Given the description of an element on the screen output the (x, y) to click on. 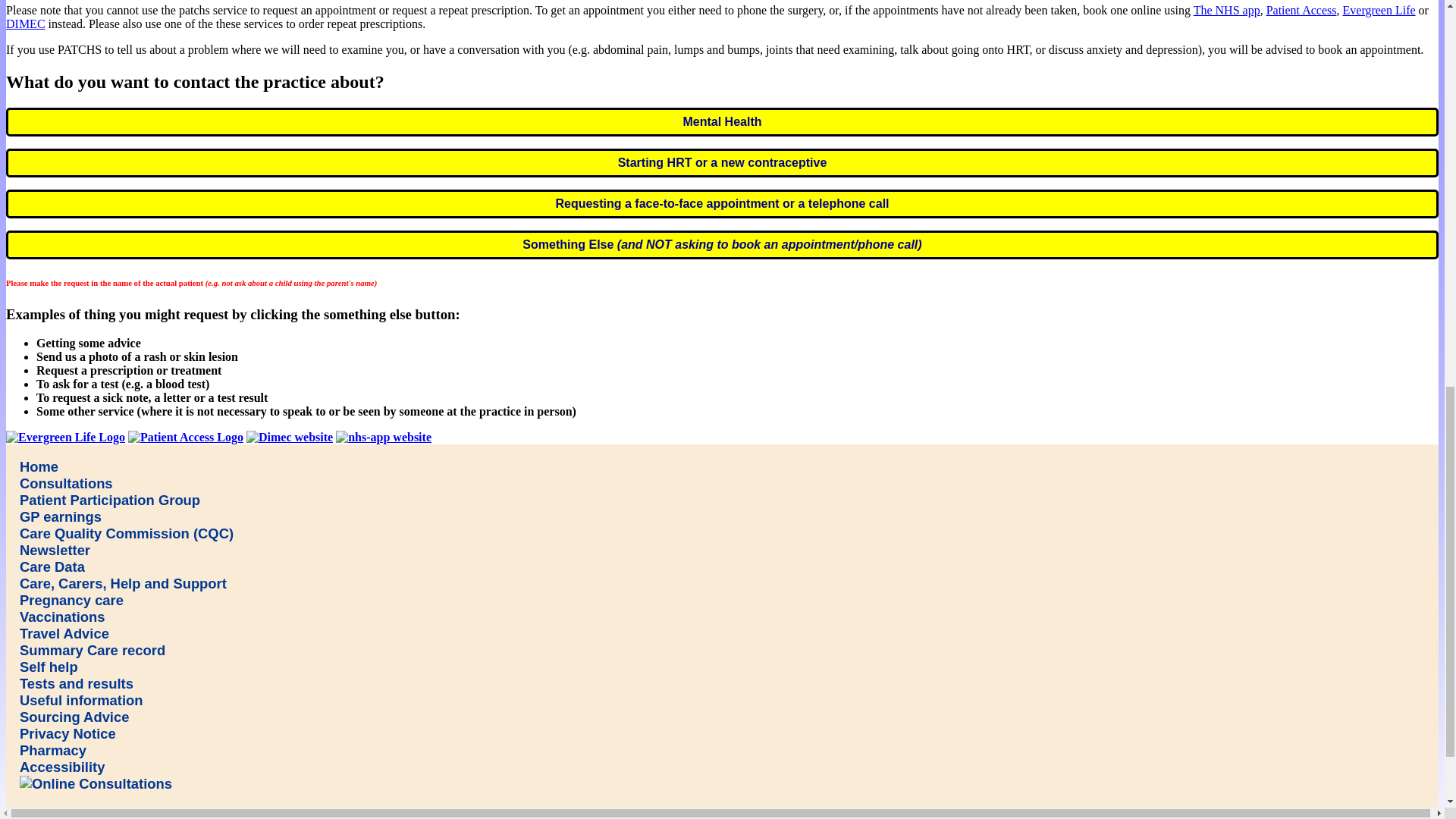
Click here for Evergreen Life Online Access (65, 437)
Click here for nhs-app website (383, 437)
Click here for EMIS Patient Access (185, 437)
Online Consultations (95, 783)
Click here for Dimec website (289, 437)
